Given the description of an element on the screen output the (x, y) to click on. 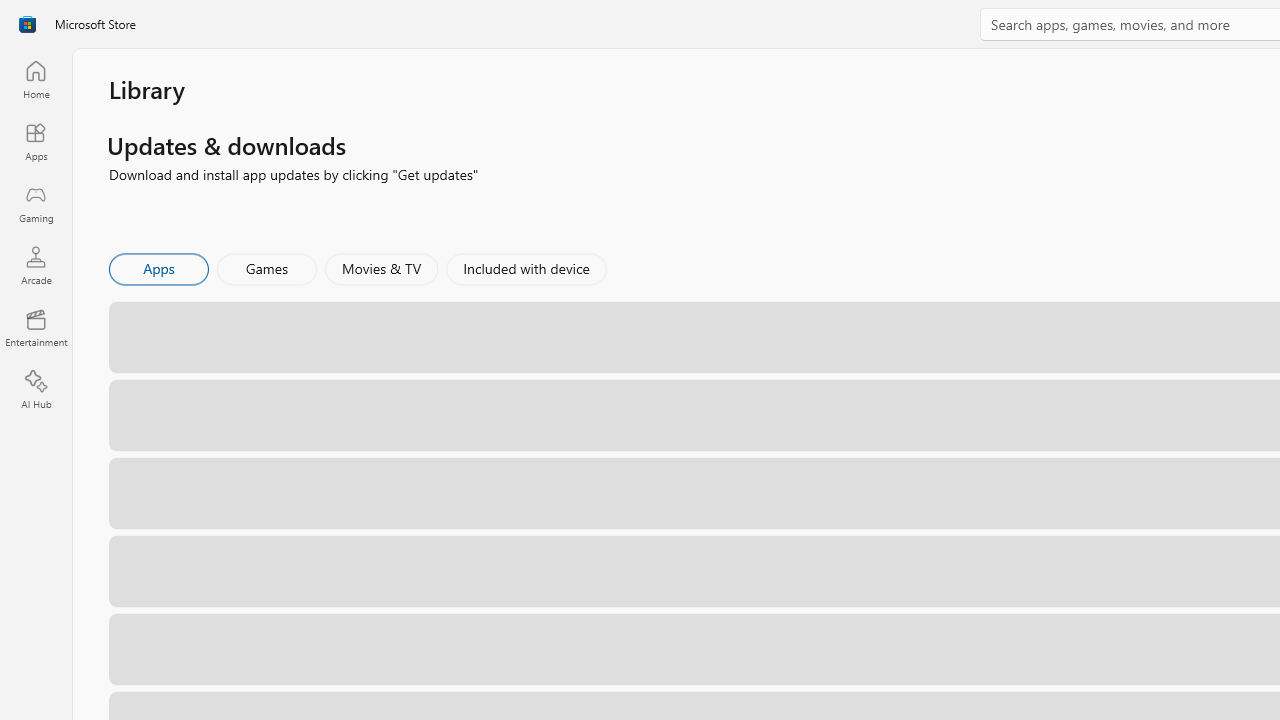
Included with device (525, 268)
Arcade (35, 265)
Entertainment (35, 327)
Gaming (35, 203)
Games (267, 268)
Movies & TV (381, 268)
AI Hub (35, 390)
Apps (35, 141)
Apps (158, 268)
Class: Image (27, 24)
Home (35, 79)
